Given the description of an element on the screen output the (x, y) to click on. 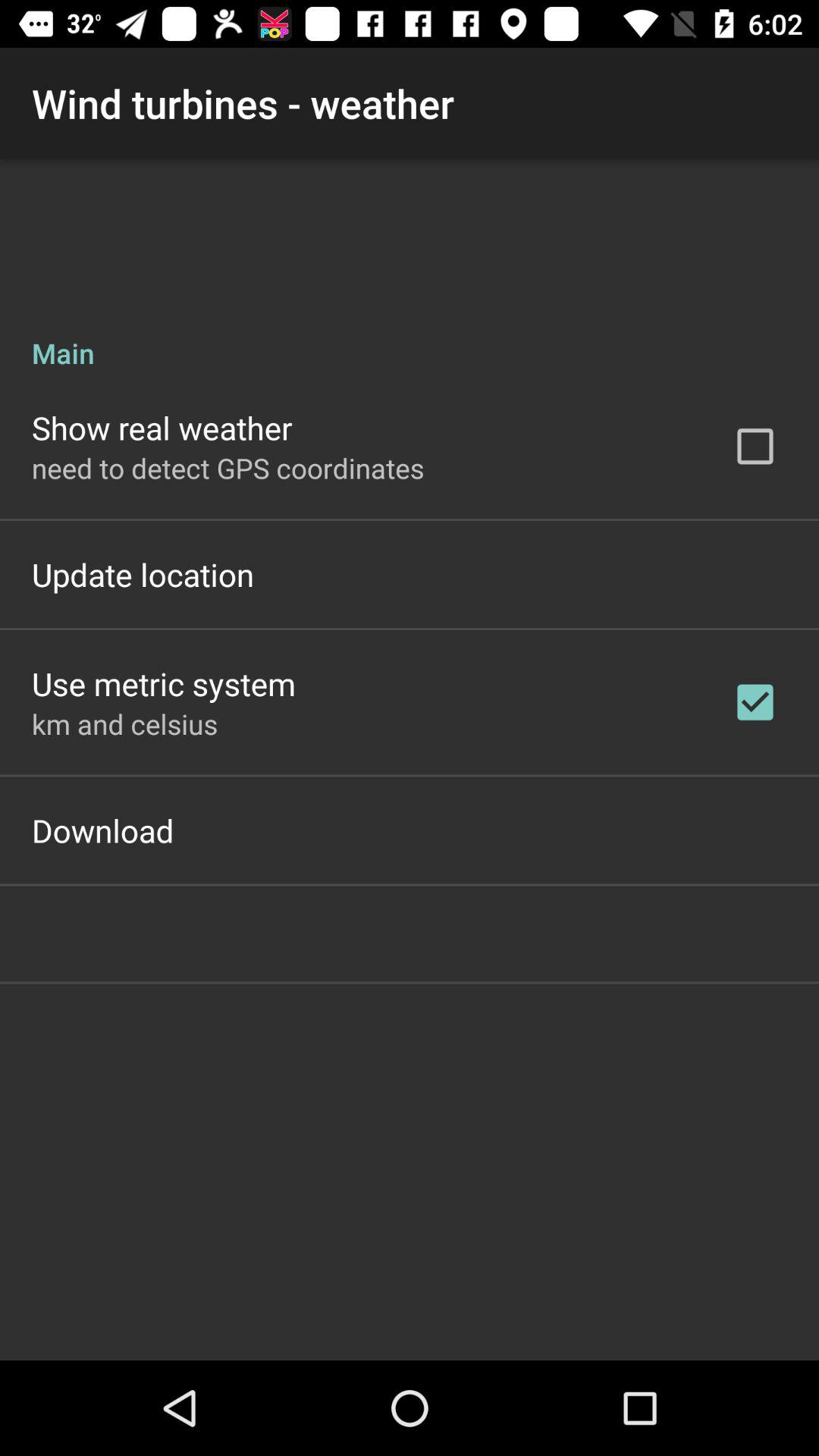
open the download app (102, 829)
